Given the description of an element on the screen output the (x, y) to click on. 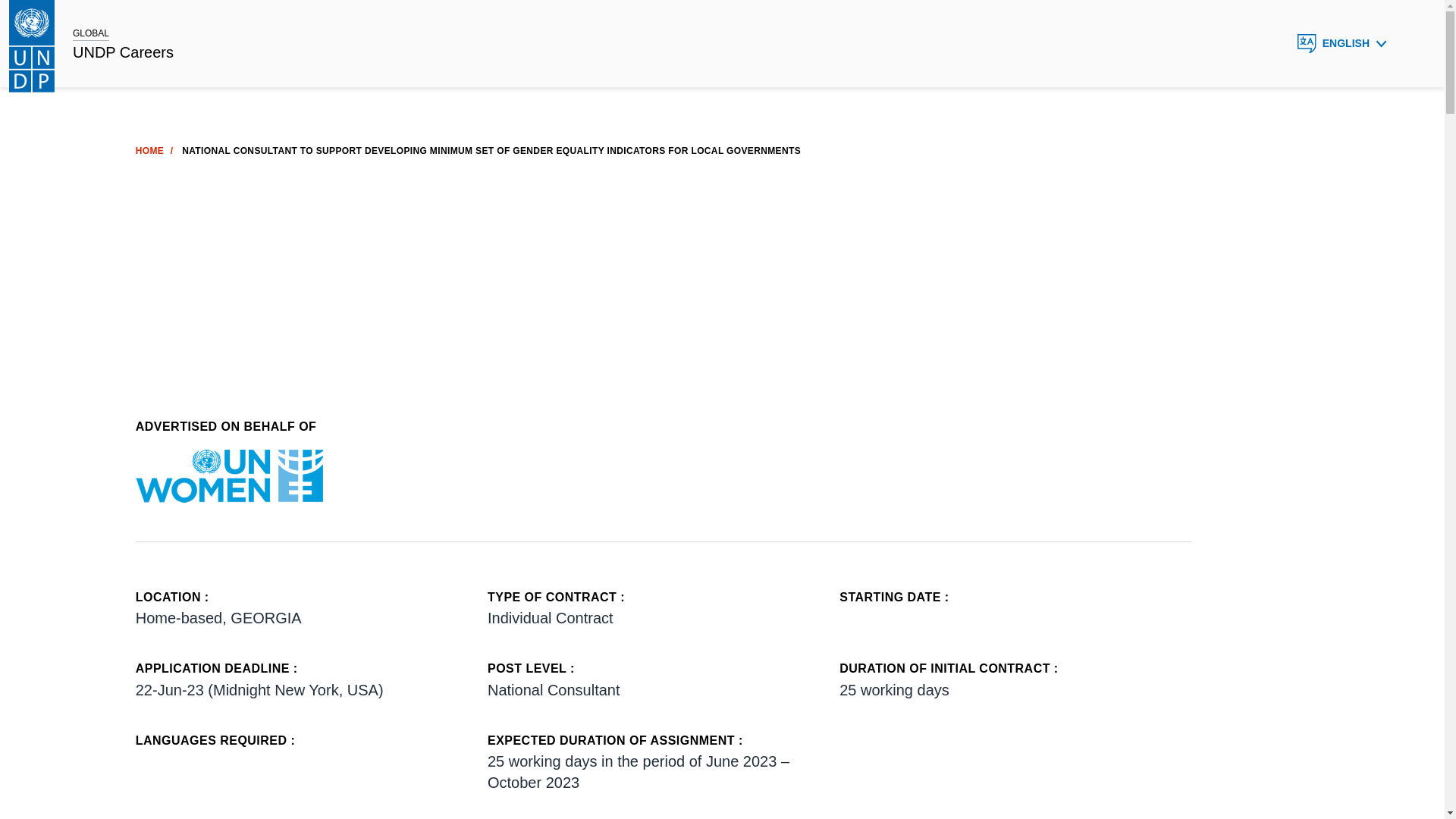
GLOBAL (90, 32)
UNDP Careers (122, 52)
HOME (149, 150)
ENGLISH (1342, 43)
